Given the description of an element on the screen output the (x, y) to click on. 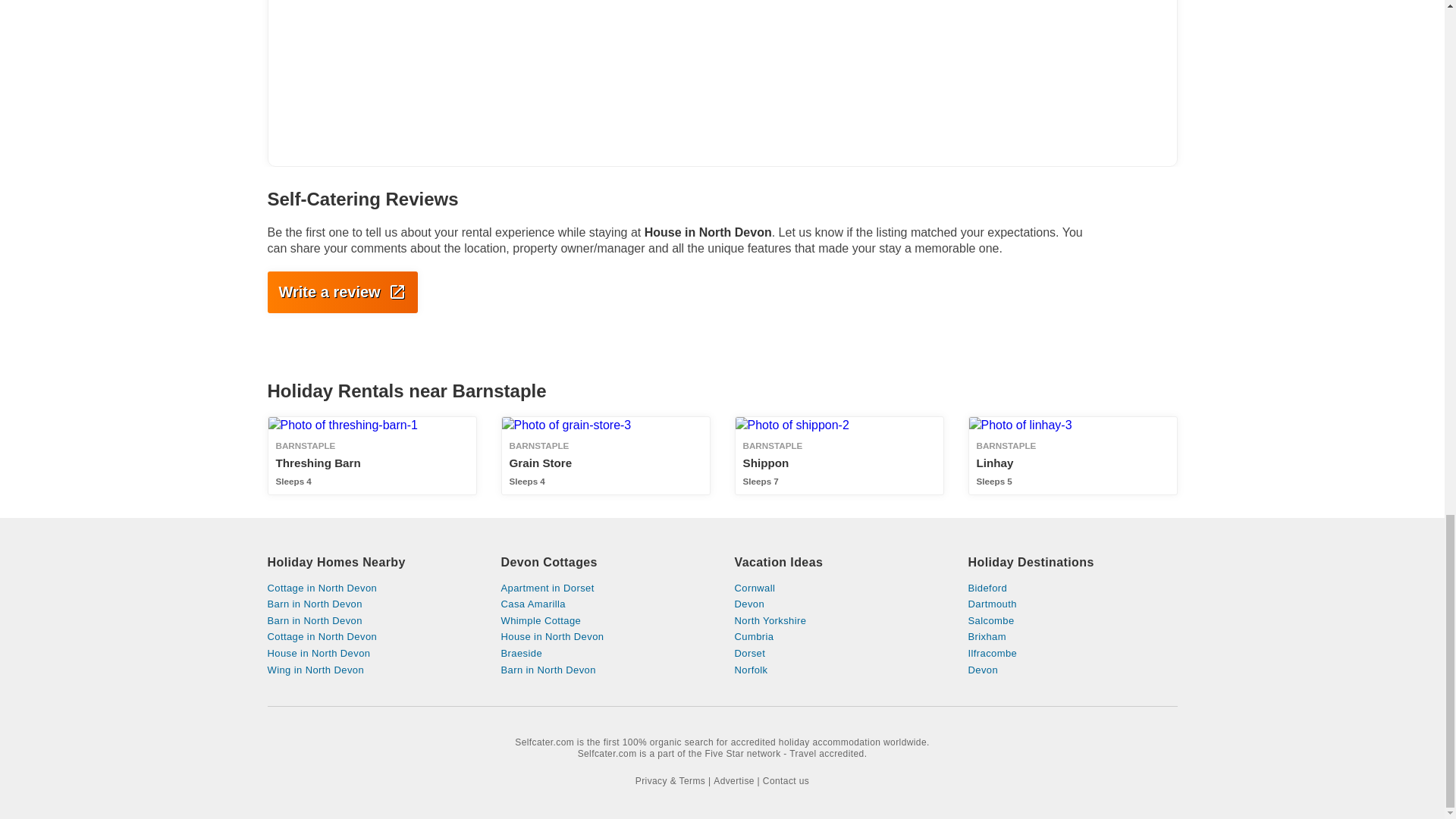
Whimple Cottage (605, 621)
Self-catering Cottage in North Devon (371, 588)
Self-catering Barn in North Devon (1072, 455)
Self-catering Wing in North Devon (838, 455)
Self-catering Cornwall (371, 604)
House in North Devon (371, 670)
Barn in North Devon (838, 588)
Cottage in North Devon (371, 653)
Apartment in Dorset (371, 604)
Barn in North Devon (371, 588)
Write a review (605, 588)
Self-catering House in North Devon (371, 621)
